Given the description of an element on the screen output the (x, y) to click on. 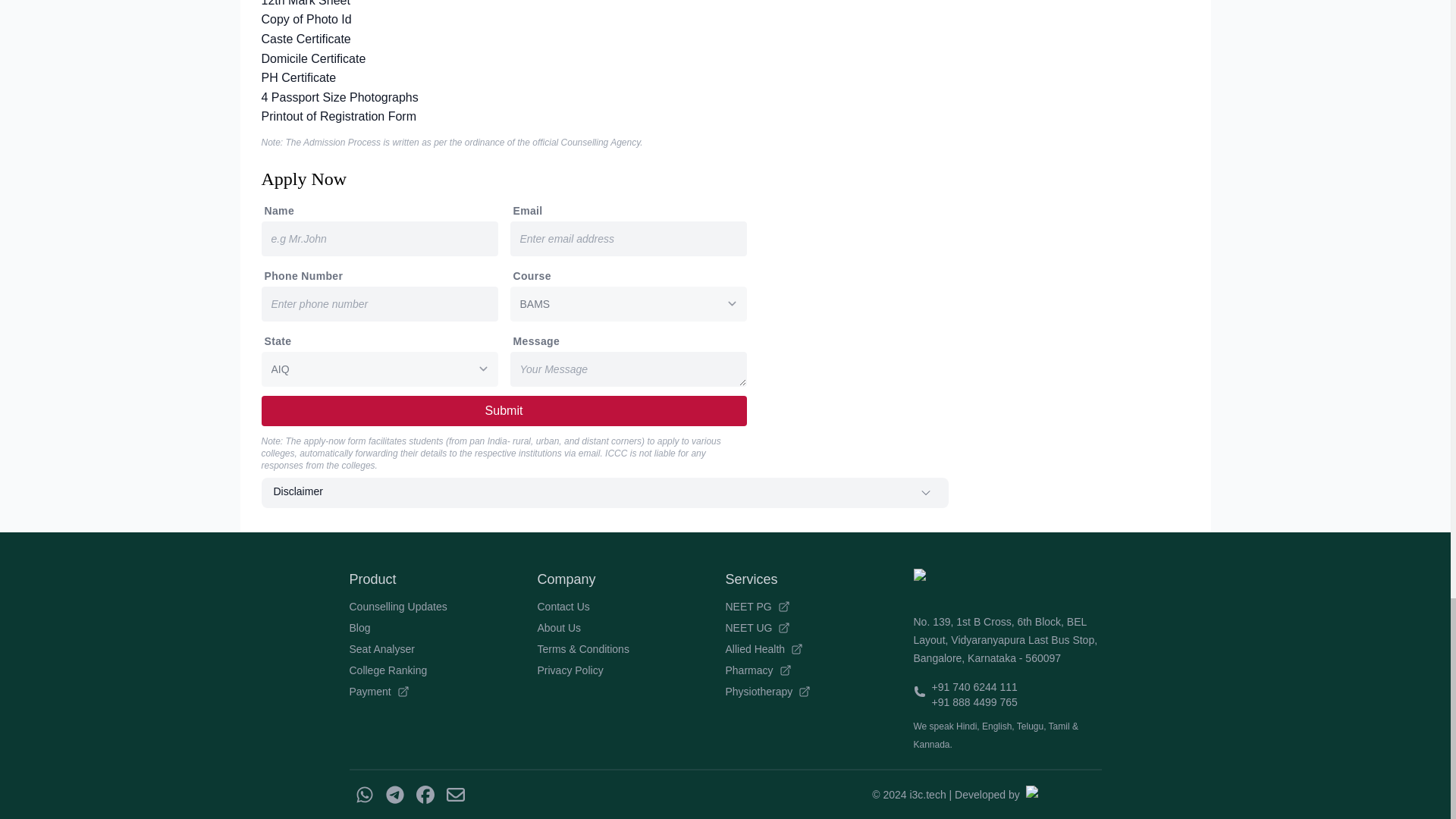
Blog (443, 627)
About Us (631, 627)
Submit (502, 410)
Payment (443, 691)
Counselling Updates (443, 606)
Disclaimer (603, 492)
Seat Analyser (443, 648)
Contact Us (631, 606)
College Ranking (443, 670)
